Given the description of an element on the screen output the (x, y) to click on. 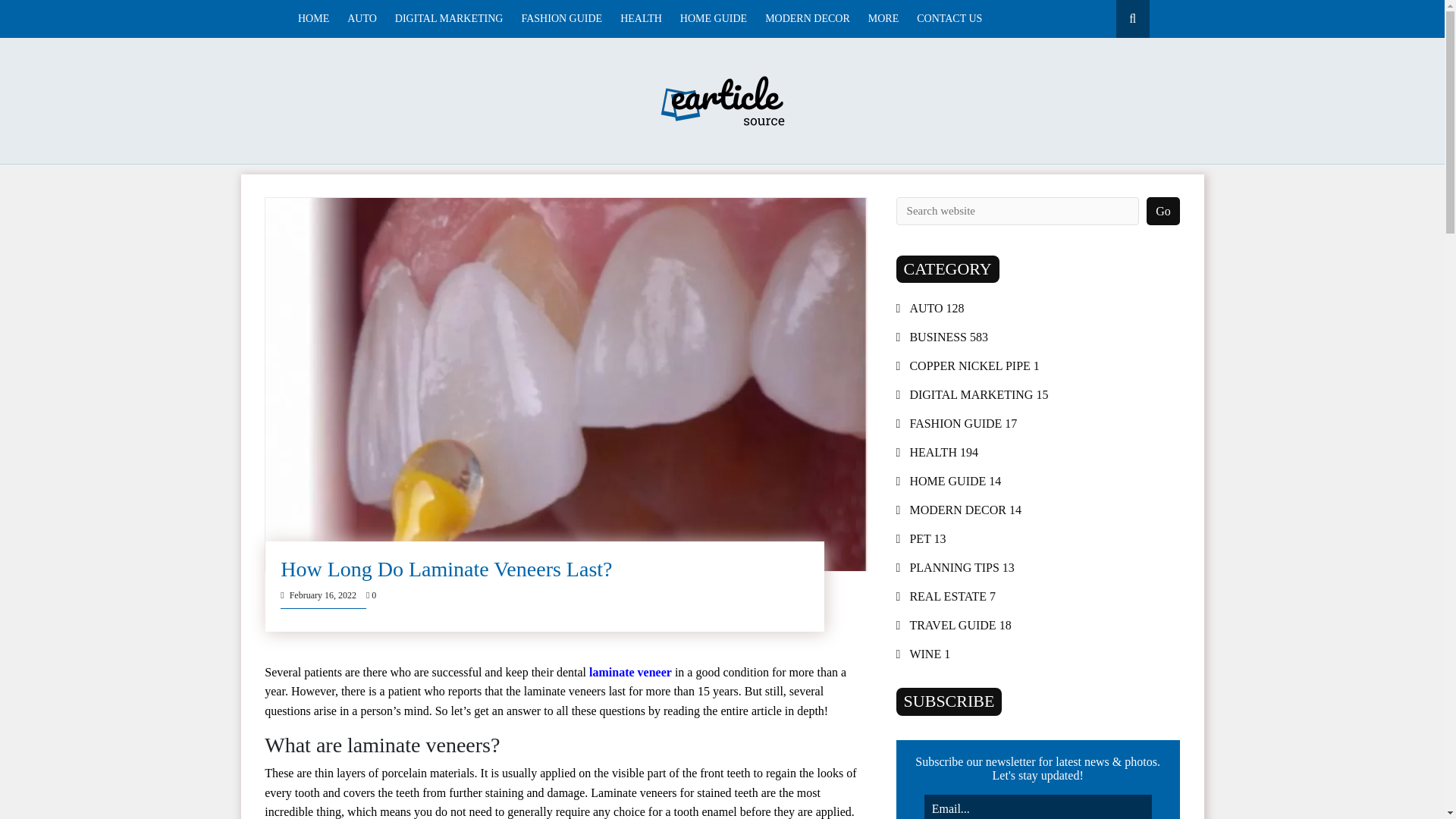
DIGITAL MARKETING (448, 18)
HOME GUIDE (712, 18)
Go (1163, 211)
MODERN DECOR (807, 18)
laminate veneer (630, 671)
How Long Do Laminate Veneers Last? (446, 568)
HEALTH (641, 18)
CONTACT US (949, 18)
FASHION GUIDE (561, 18)
